Given the description of an element on the screen output the (x, y) to click on. 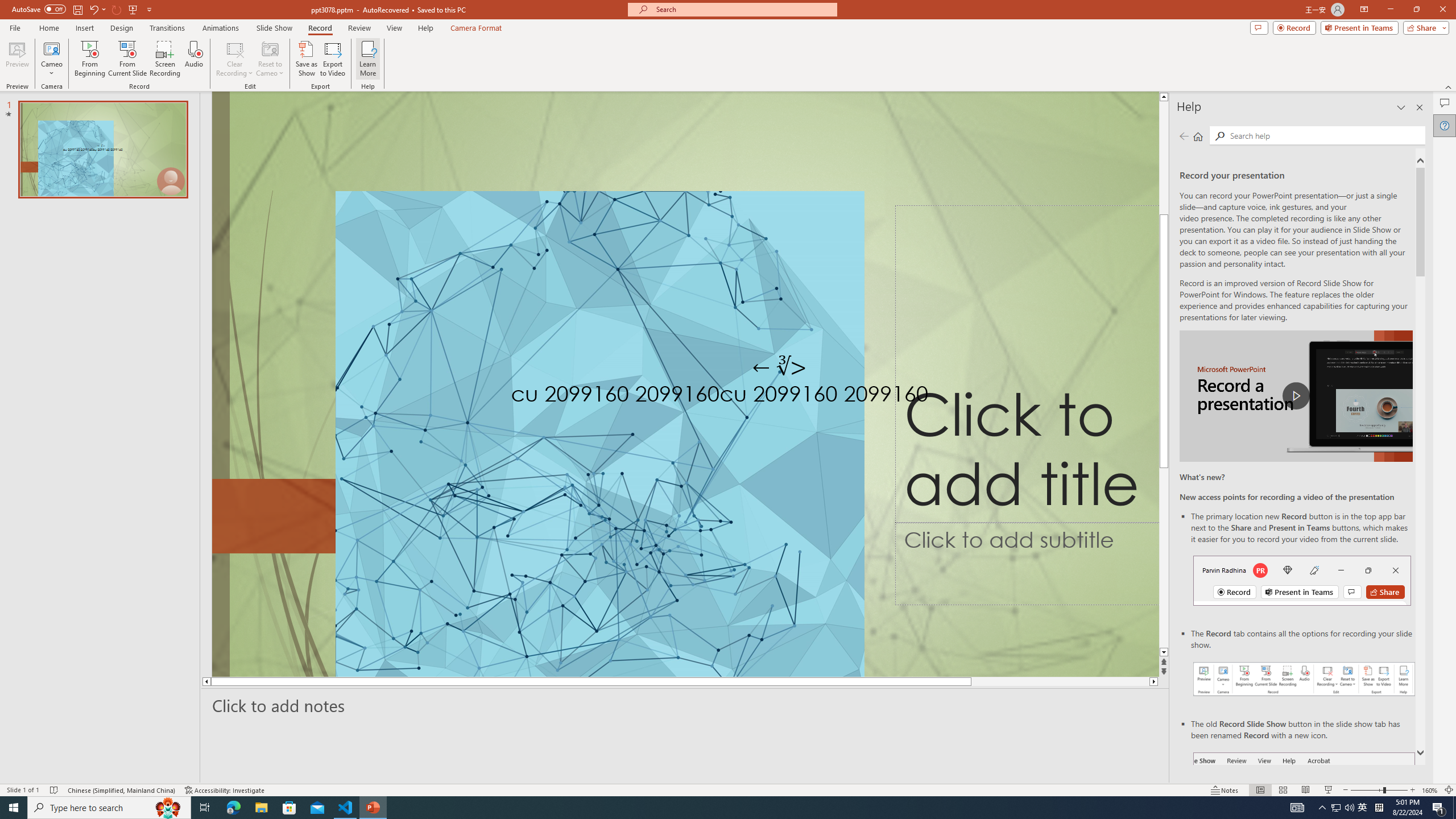
Subtitle TextBox (1026, 563)
Previous page (1183, 136)
Reset to Cameo (269, 58)
